Given the description of an element on the screen output the (x, y) to click on. 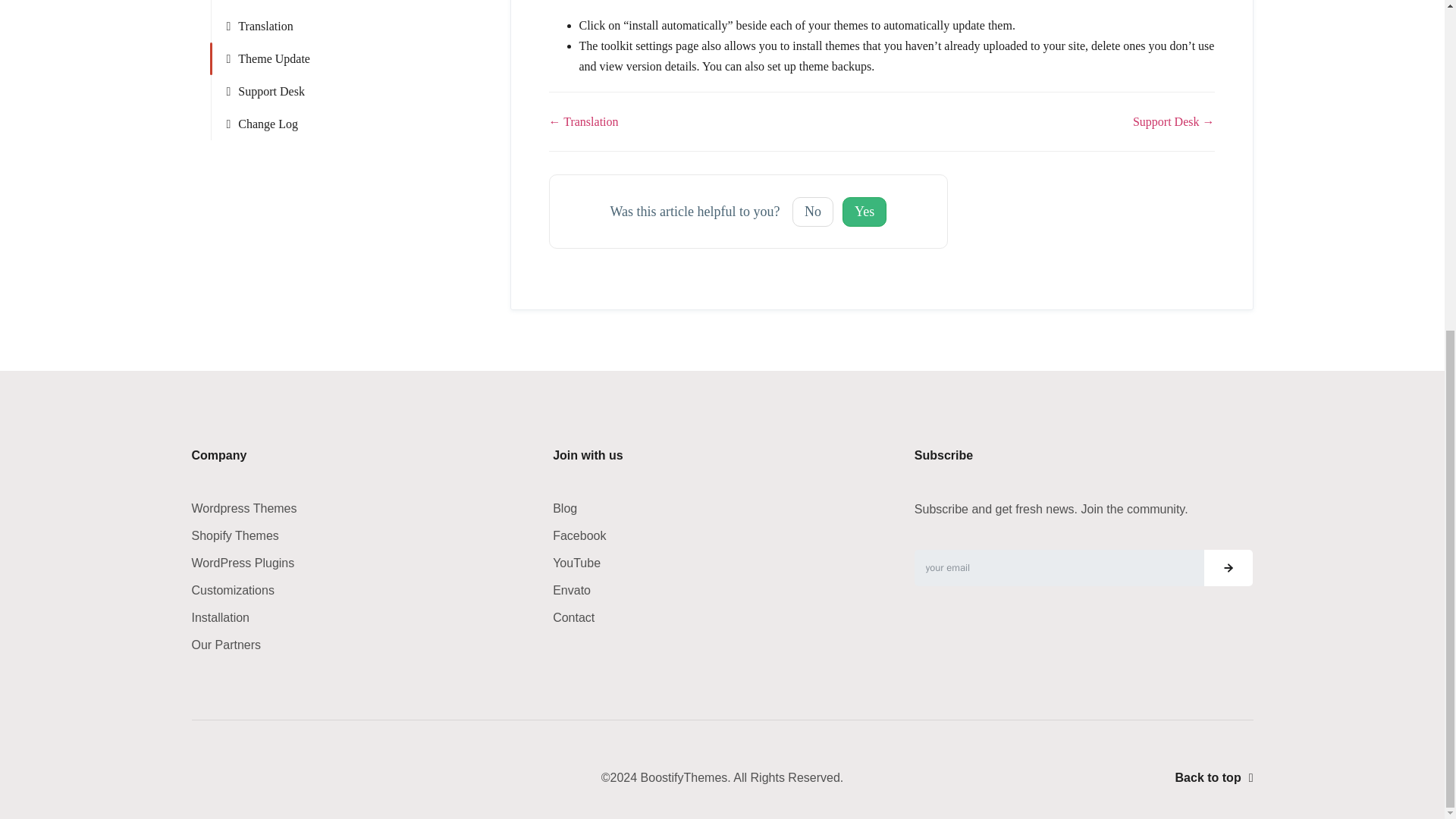
No votes yet (864, 211)
Yes (864, 211)
No votes yet (812, 211)
Translation (360, 25)
Support Desk (360, 91)
Revolution Slider (360, 4)
No (812, 211)
Change Log (360, 123)
Theme Update (360, 58)
